Given the description of an element on the screen output the (x, y) to click on. 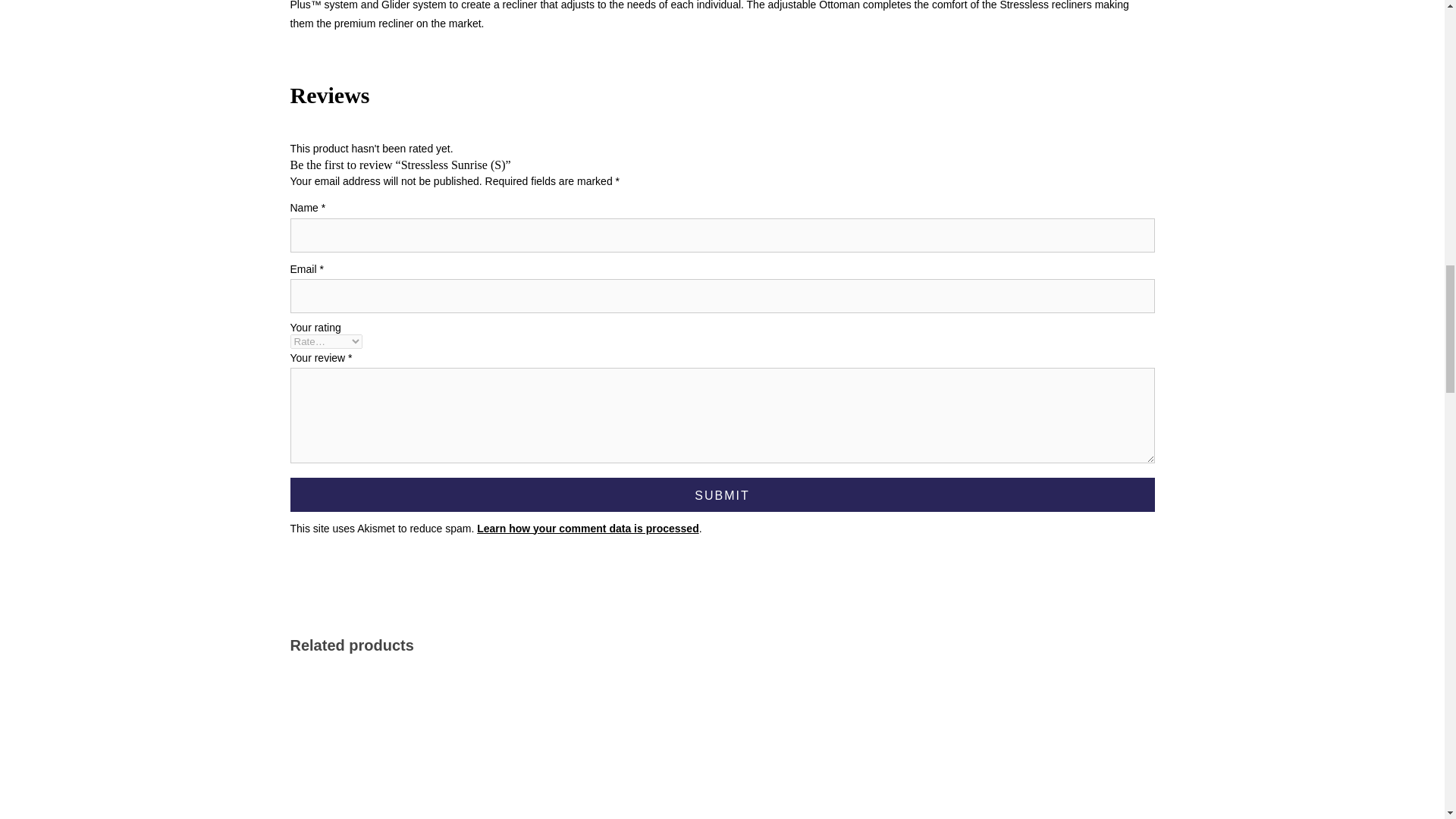
Learn how your comment data is processed (587, 528)
Submit (721, 494)
Submit (721, 494)
